Given the description of an element on the screen output the (x, y) to click on. 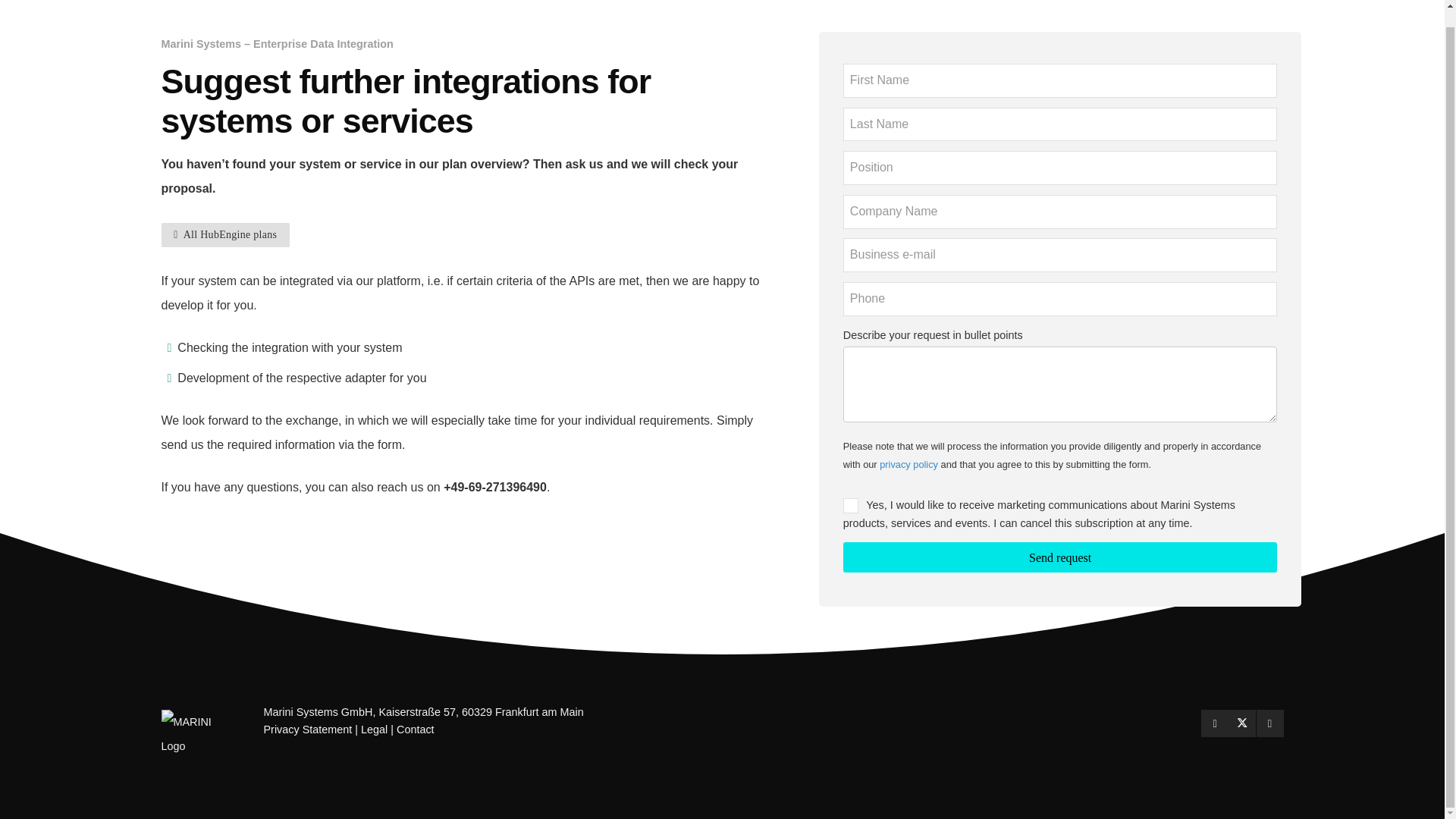
LinkedIn (1214, 723)
Legal (374, 729)
All HubEngine plans (224, 234)
Twitter (1241, 723)
Privacy Statement (307, 729)
privacy policy (908, 464)
YouTube (1268, 723)
Contact (414, 729)
1 (851, 505)
Send request (1060, 557)
